Given the description of an element on the screen output the (x, y) to click on. 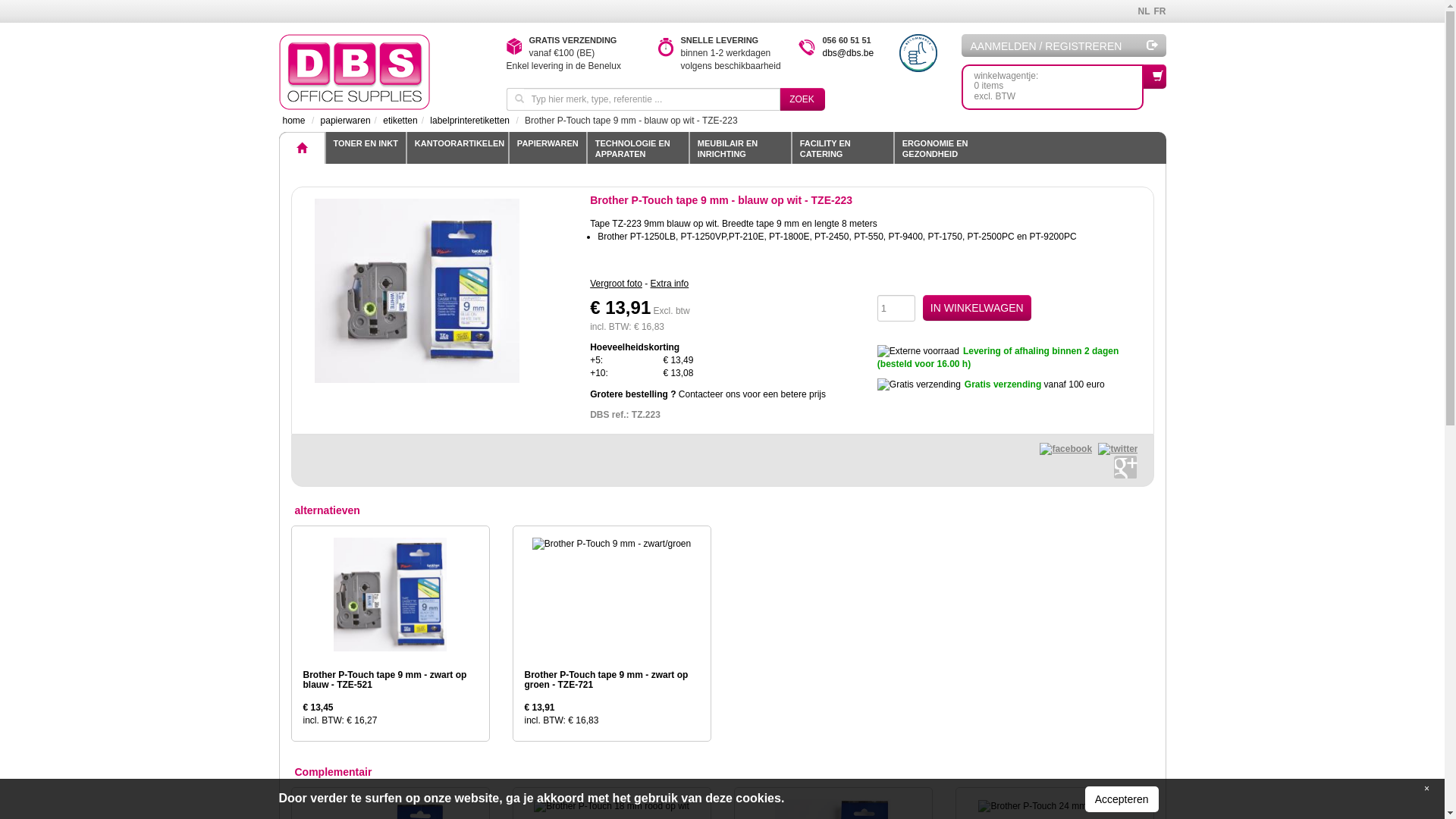
TECHNOLOGIE EN APPARATEN Element type: text (637, 147)
Brother P-Touch 24 mm - zwart/wit Element type: hover (1053, 806)
Typ hier merk, type, referentie ... Element type: hover (651, 98)
MEUBILAIR EN INRICHTING Element type: text (739, 147)
Accepteren Element type: text (1121, 799)
Veilig online winkelen met BeCommerce! Element type: hover (918, 53)
Brother P-Touch 9 mm - zwart/blauw Element type: hover (389, 594)
Brother P-Touch 9 mm - blauw/wit Element type: hover (416, 290)
papierwaren Element type: text (345, 120)
FACILITY EN CATERING Element type: text (841, 147)
snelle leveringbinnen 1-2 werkdagen
volgens beschikbaarheid Element type: hover (665, 46)
PAPIERWAREN Element type: text (547, 147)
IN WINKELWAGEN Element type: text (976, 307)
NL Element type: text (1142, 11)
dbs@dbs.be Element type: text (847, 52)
Vergroot foto Element type: text (615, 283)
<strong>056 60 51 51</strong> Element type: hover (805, 46)
AANMELDEN / REGISTREREN Element type: text (1063, 45)
ERGONOMIE EN GEZONDHEID Element type: text (944, 147)
ZOEK Element type: text (802, 98)
Extra info Element type: text (669, 283)
winkelwagentje:
0 items
excl. BTW Element type: text (1052, 86)
FR Element type: text (1157, 11)
home Element type: hover (381, 71)
cart Element type: hover (1154, 76)
KANTOORARTIKELEN Element type: text (456, 147)
home Element type: text (293, 120)
Brother P-Touch 18 mm rood op wit Element type: hover (611, 806)
TONER EN INKT Element type: text (364, 147)
Brother P-Touch 9 mm - zwart/groen Element type: hover (611, 543)
home Element type: hover (301, 147)
labelprinteretiketten Element type: text (469, 120)
etiketten Element type: text (399, 120)
DBS Element type: hover (354, 71)
